Given the description of an element on the screen output the (x, y) to click on. 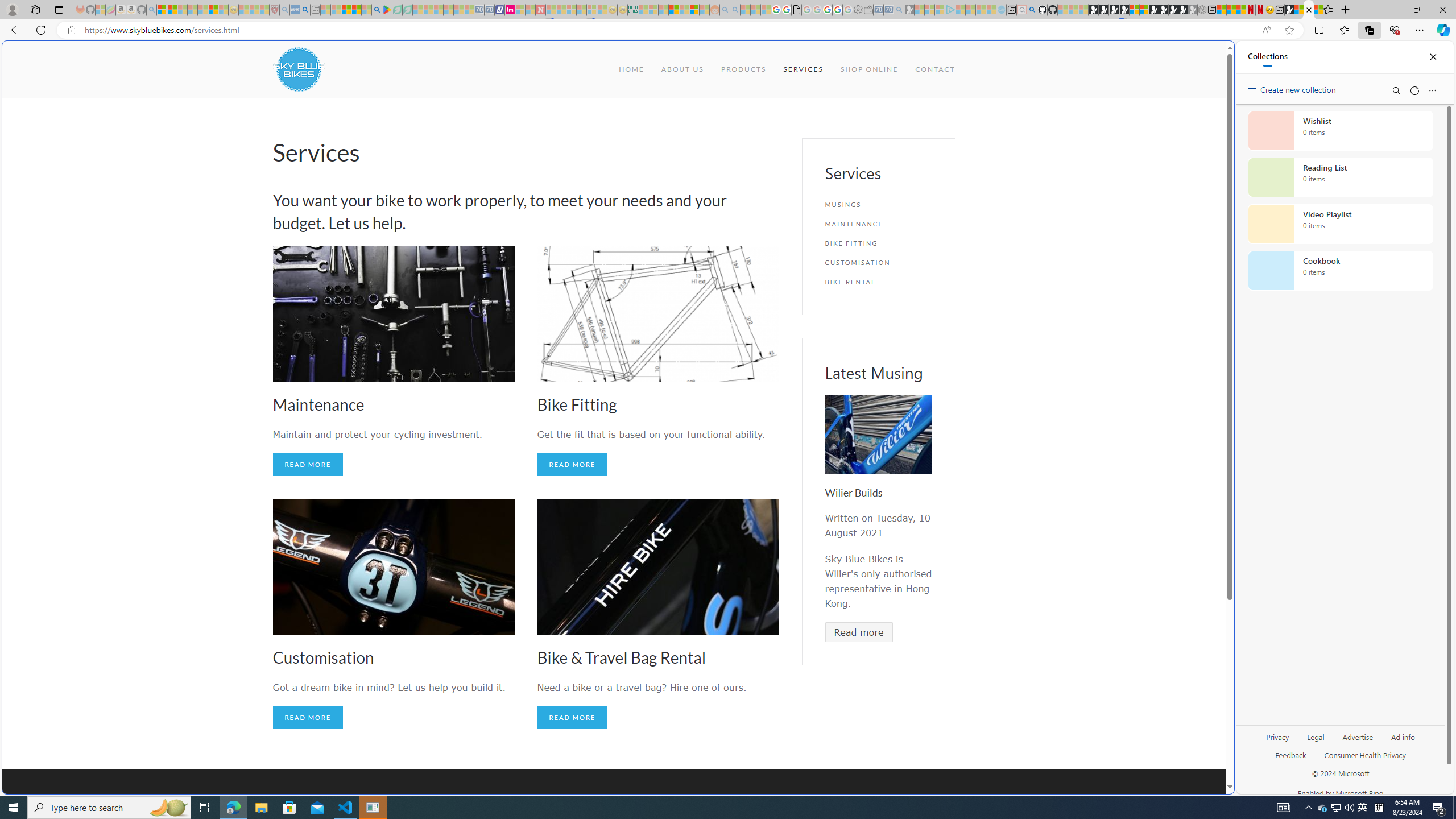
READ MORE (572, 717)
PRODUCTS (742, 68)
Create new collection (1293, 87)
Reading List collection, 0 items (1339, 177)
